Given the description of an element on the screen output the (x, y) to click on. 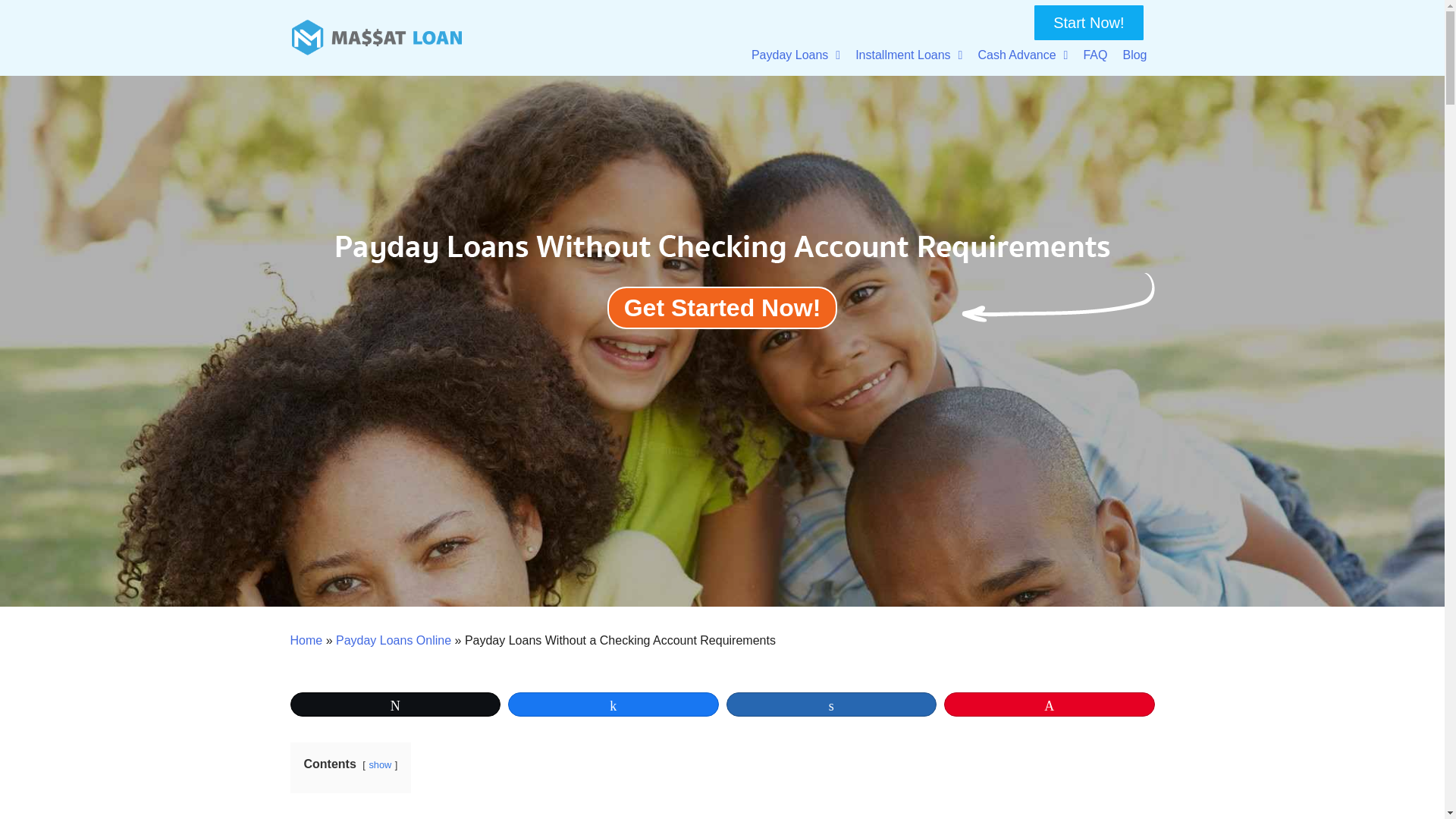
Installment Loans (908, 54)
Start Now! (1087, 22)
Payday Loans (795, 54)
